Given the description of an element on the screen output the (x, y) to click on. 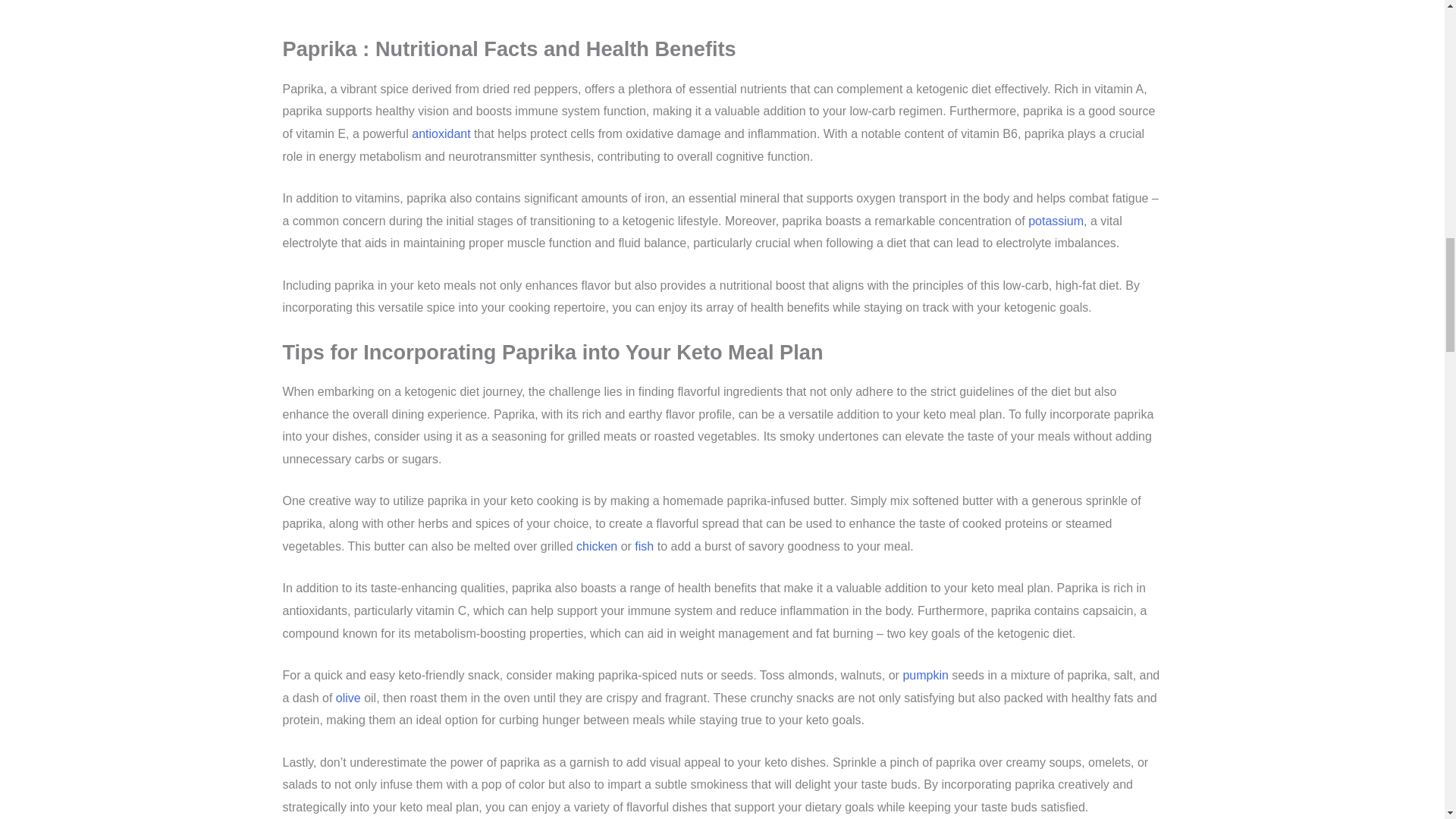
chicken (596, 545)
potassium (1055, 220)
antioxidant (441, 133)
